Given the description of an element on the screen output the (x, y) to click on. 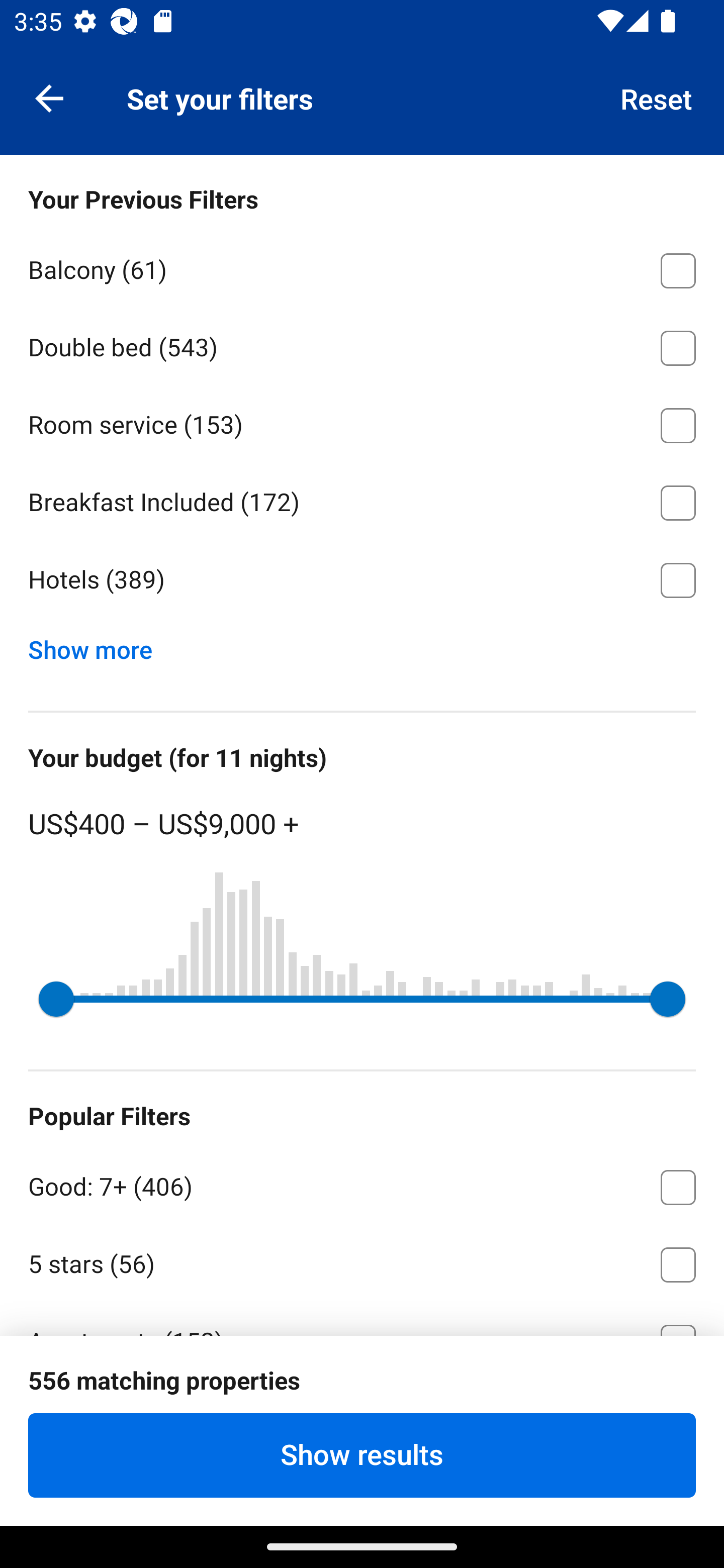
Navigate up (49, 97)
Reset (656, 97)
Balcony ⁦(61) (361, 266)
Double bed ⁦(543) (361, 344)
Room service ⁦(153) (361, 422)
Breakfast Included ⁦(172) (361, 498)
Hotels ⁦(389) (361, 579)
Show more (97, 645)
Good: 7+ ⁦(406) (361, 1183)
5 stars ⁦(56) (361, 1261)
Show results (361, 1454)
